Given the description of an element on the screen output the (x, y) to click on. 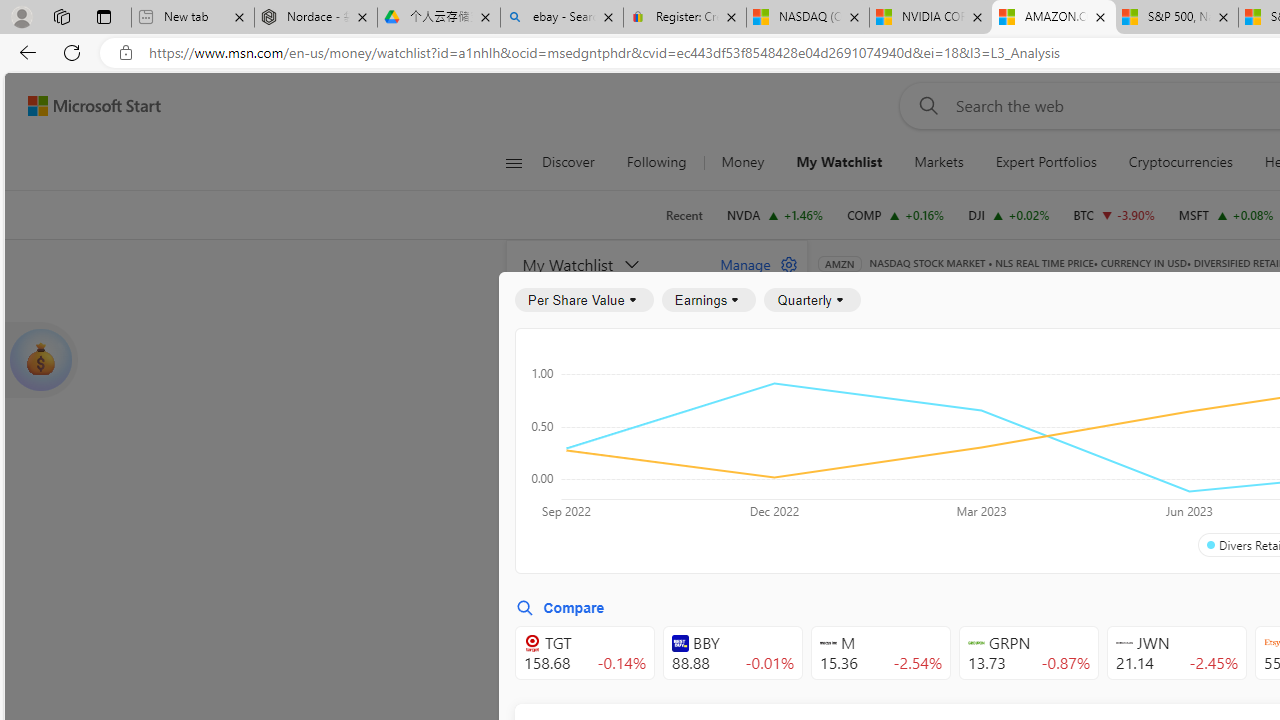
remove from your watchlist (786, 498)
Personal Profile (21, 16)
Quarterly (812, 300)
S&P 500, Nasdaq end lower, weighed by Nvidia dip | Watch (1176, 17)
View site information (125, 53)
Markets (938, 162)
Class: autoSuggestIcon-DS-EntryPoint1-2 (1124, 643)
Money (742, 162)
Skip to footer (82, 105)
